Given the description of an element on the screen output the (x, y) to click on. 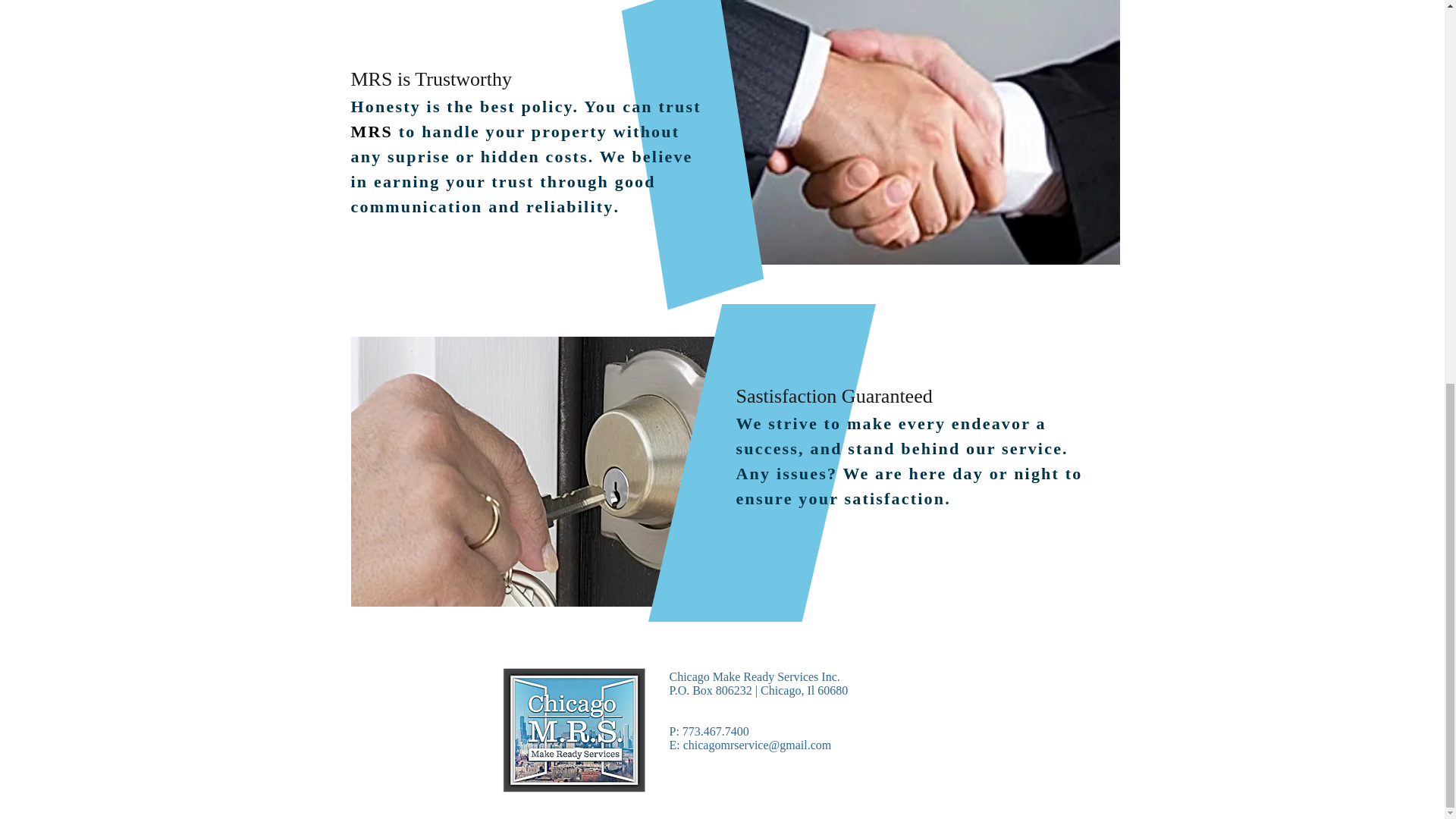
Shaking Hands (894, 132)
Unlocking the Door (555, 471)
